Given the description of an element on the screen output the (x, y) to click on. 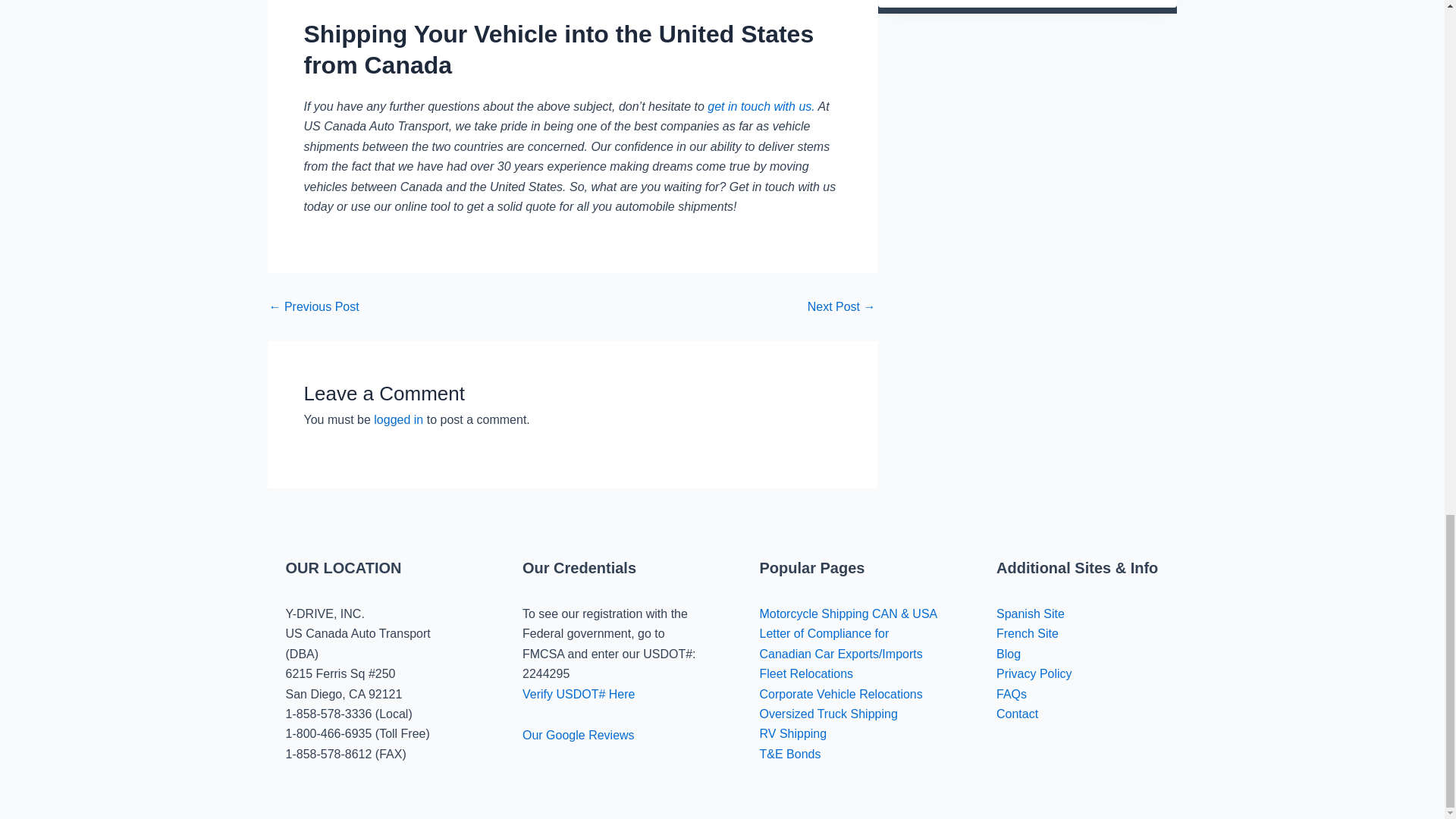
Motor Vehicle Shipping FAQs for Canada and the United States (842, 306)
